Given the description of an element on the screen output the (x, y) to click on. 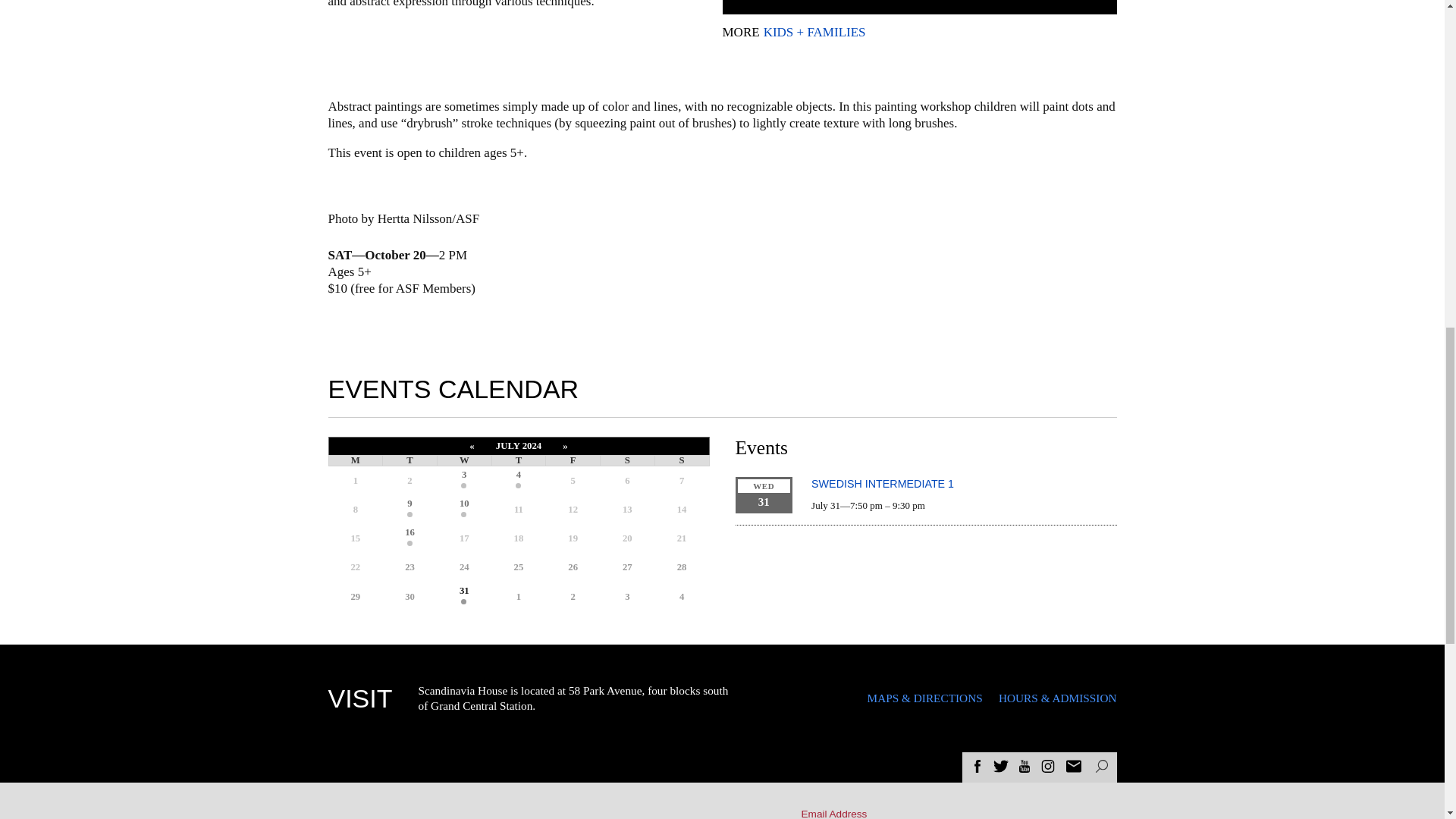
Twitter (1000, 766)
Facebook (976, 766)
YouTube (1023, 766)
Newsletter (1073, 766)
See Scandinavia House on Youtube (1023, 768)
Search (1100, 766)
See Scandinavia House on Facebook (976, 768)
See Scandinavia House on Twitter (1000, 768)
Instagram (1048, 766)
See Scandinavia House on Instagram (1048, 768)
